Given the description of an element on the screen output the (x, y) to click on. 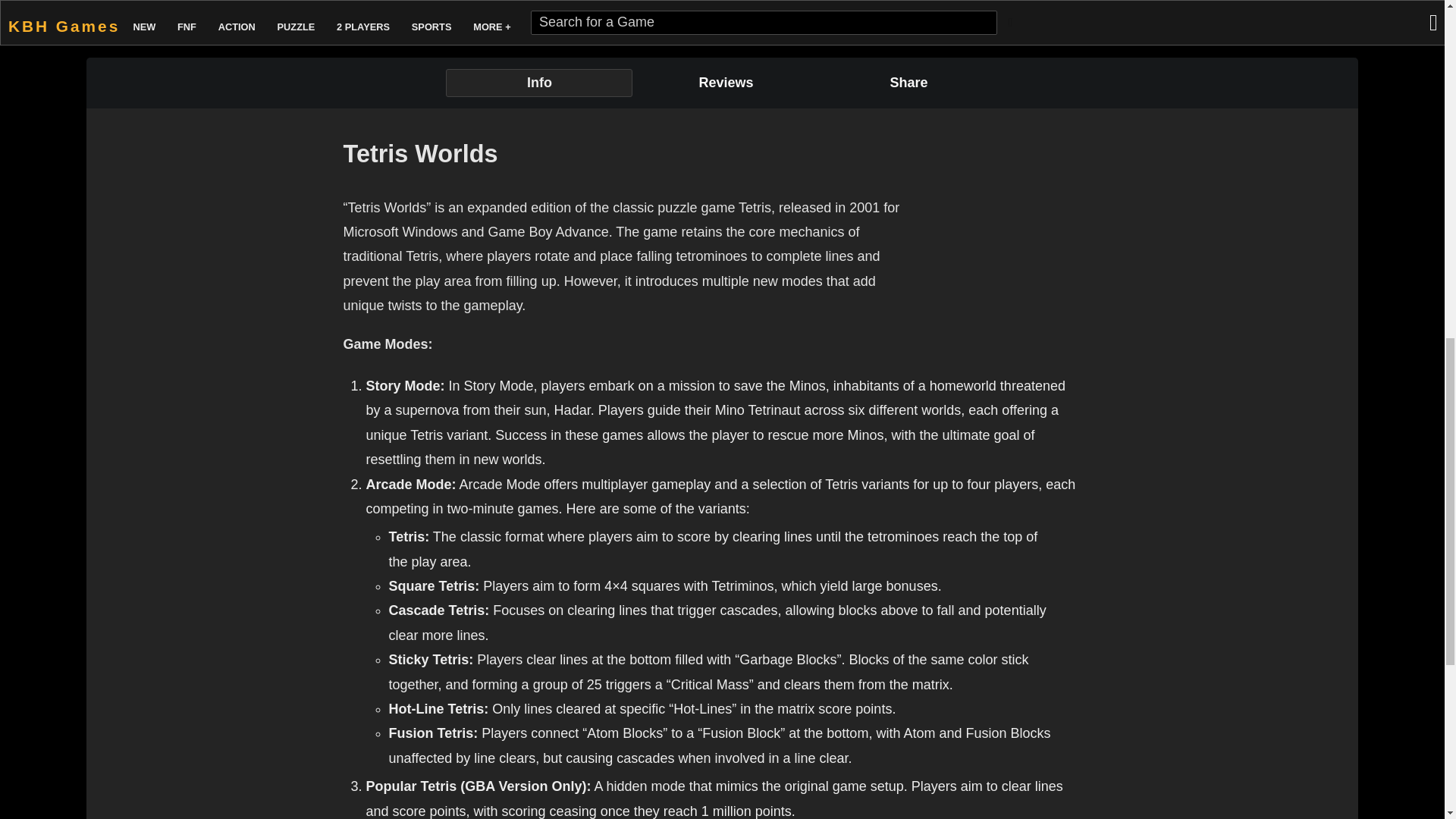
Passengers Tetris (965, 7)
Tetris Cube (1299, 7)
Dynamons 5 (798, 7)
Quadruple Tetris (1132, 7)
